Given the description of an element on the screen output the (x, y) to click on. 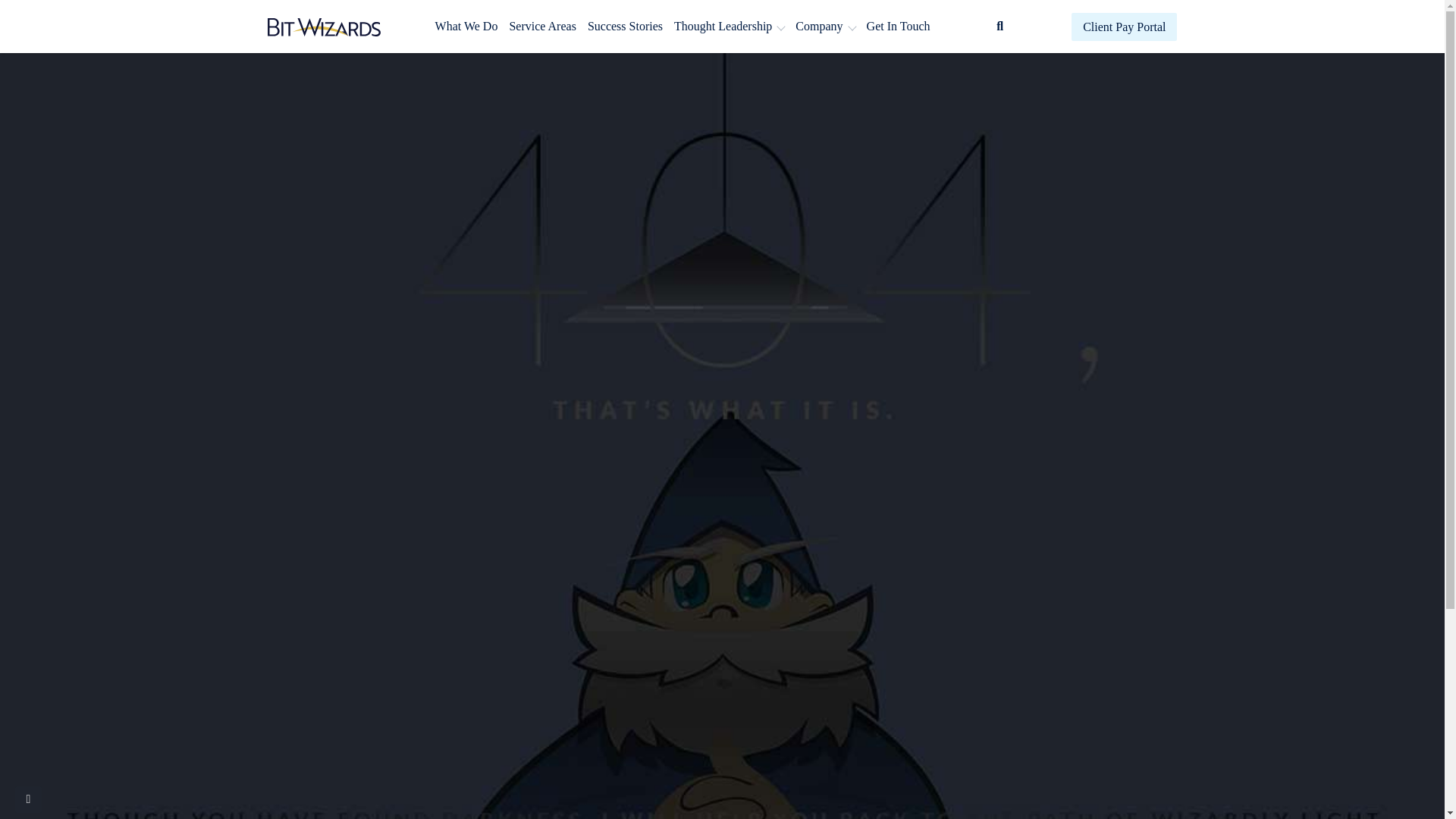
Search (1117, 102)
Client Pay Portal (1123, 26)
Success Stories (624, 25)
Thought Leadership (729, 25)
Get In Touch (898, 25)
Company (825, 25)
What We Do (466, 25)
Service Areas (541, 25)
